Given the description of an element on the screen output the (x, y) to click on. 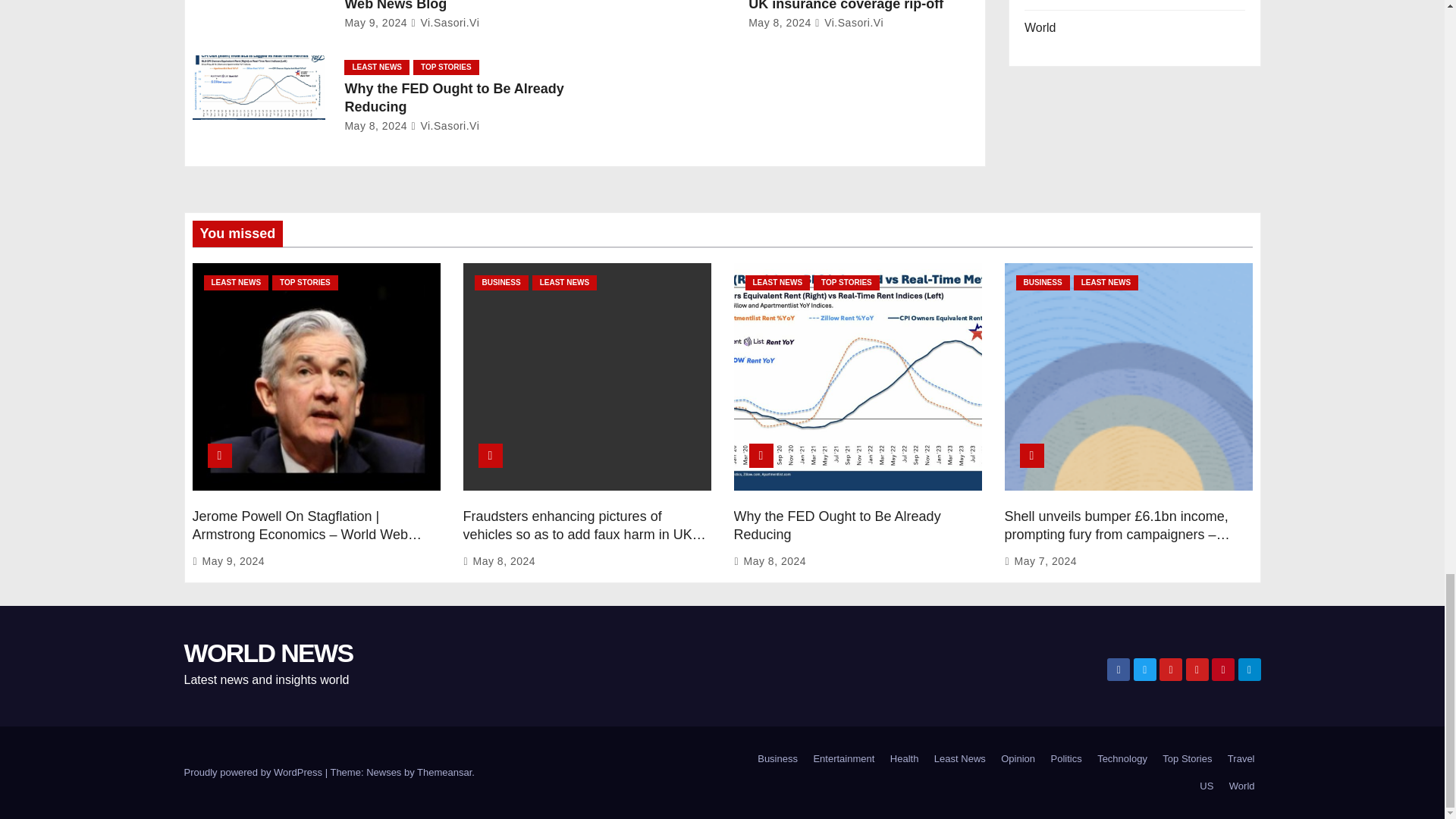
Permalink to: Why the FED Ought to Be Already Reducing (836, 525)
Permalink to: Why the FED Ought to Be Already Reducing (453, 97)
